Given the description of an element on the screen output the (x, y) to click on. 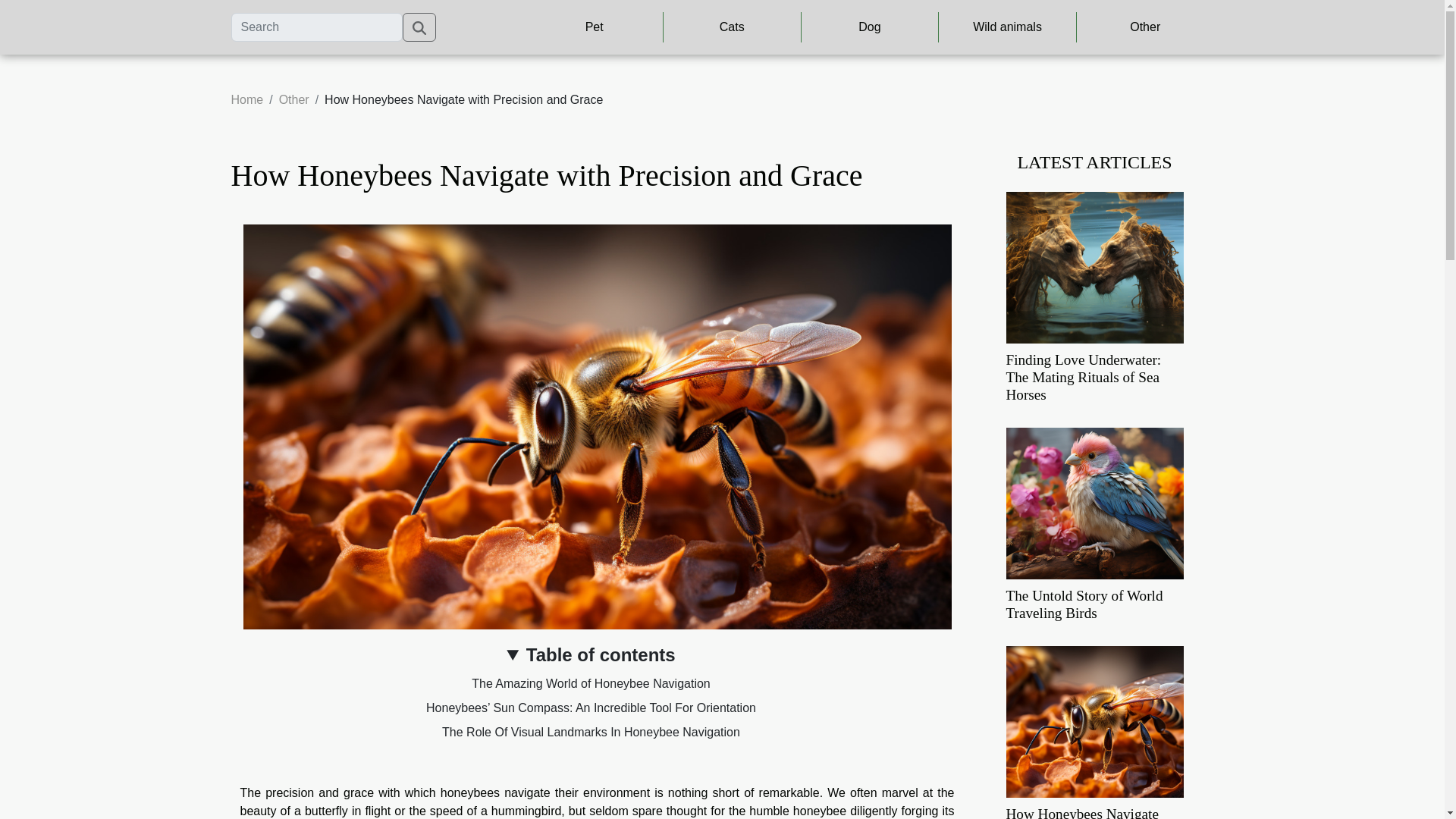
The Role Of Visual Landmarks In Honeybee Navigation (590, 731)
The Amazing World of Honeybee Navigation (590, 683)
Cats (732, 27)
The Untold Story of World Traveling Birds (1083, 604)
Finding Love Underwater: The Mating Rituals of Sea Horses (1094, 266)
Other (293, 99)
Finding Love Underwater: The Mating Rituals of Sea Horses (1083, 377)
How Honeybees Navigate with Precision and Grace (1081, 812)
Dog (869, 27)
Pet (593, 27)
Other (1145, 27)
Wild animals (1007, 27)
The Untold Story of World Traveling Birds (1094, 502)
The Untold Story of World Traveling Birds (1083, 604)
Home (246, 99)
